Given the description of an element on the screen output the (x, y) to click on. 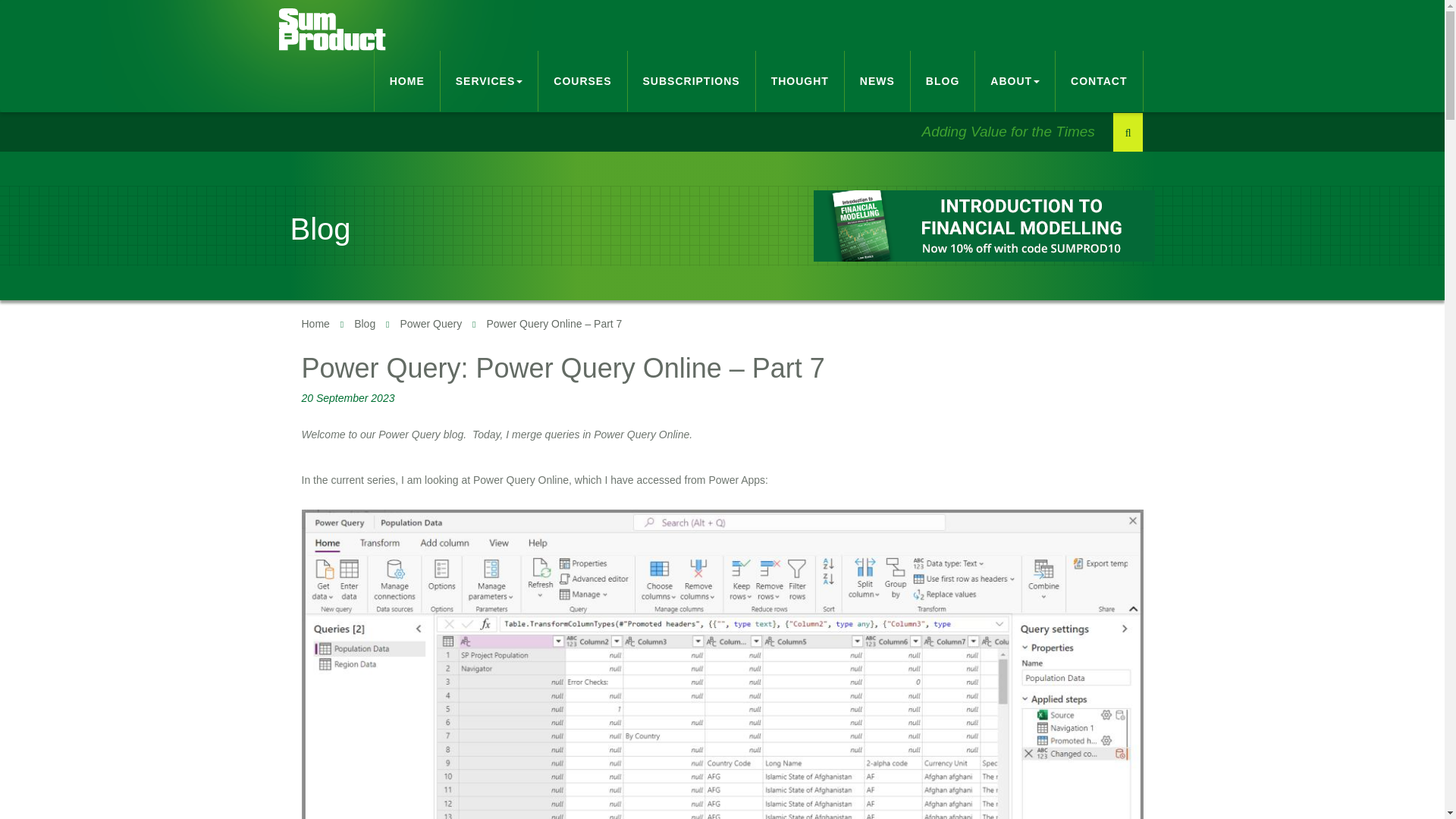
Power Query (429, 323)
ABOUT (1015, 80)
COURSES (582, 80)
THOUGHT (799, 80)
SERVICES (489, 80)
Blog (364, 323)
Home (315, 323)
NEWS (877, 80)
HOME (407, 80)
SUBSCRIPTIONS (691, 80)
BLOG (943, 80)
CONTACT (1098, 80)
